Given the description of an element on the screen output the (x, y) to click on. 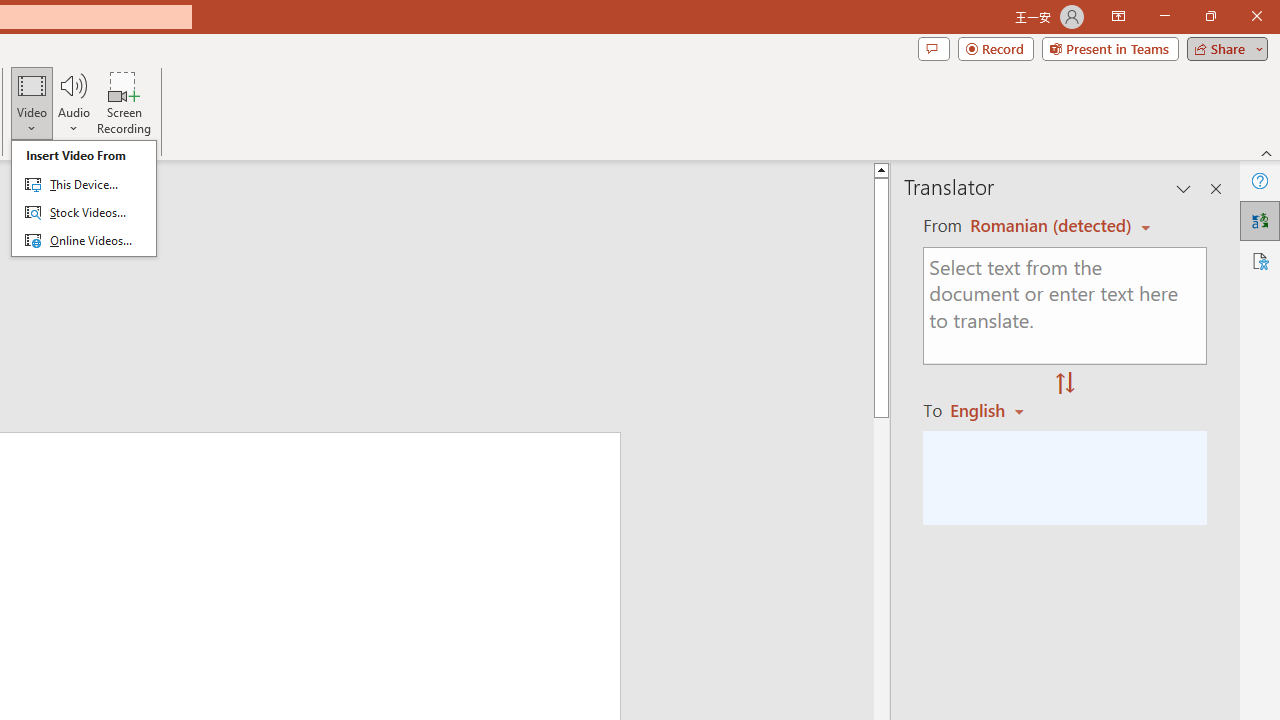
Swap "from" and "to" languages. (1065, 383)
Screen Recording... (123, 102)
Audio (73, 102)
Video (31, 102)
Romanian (detected) (1047, 225)
